Given the description of an element on the screen output the (x, y) to click on. 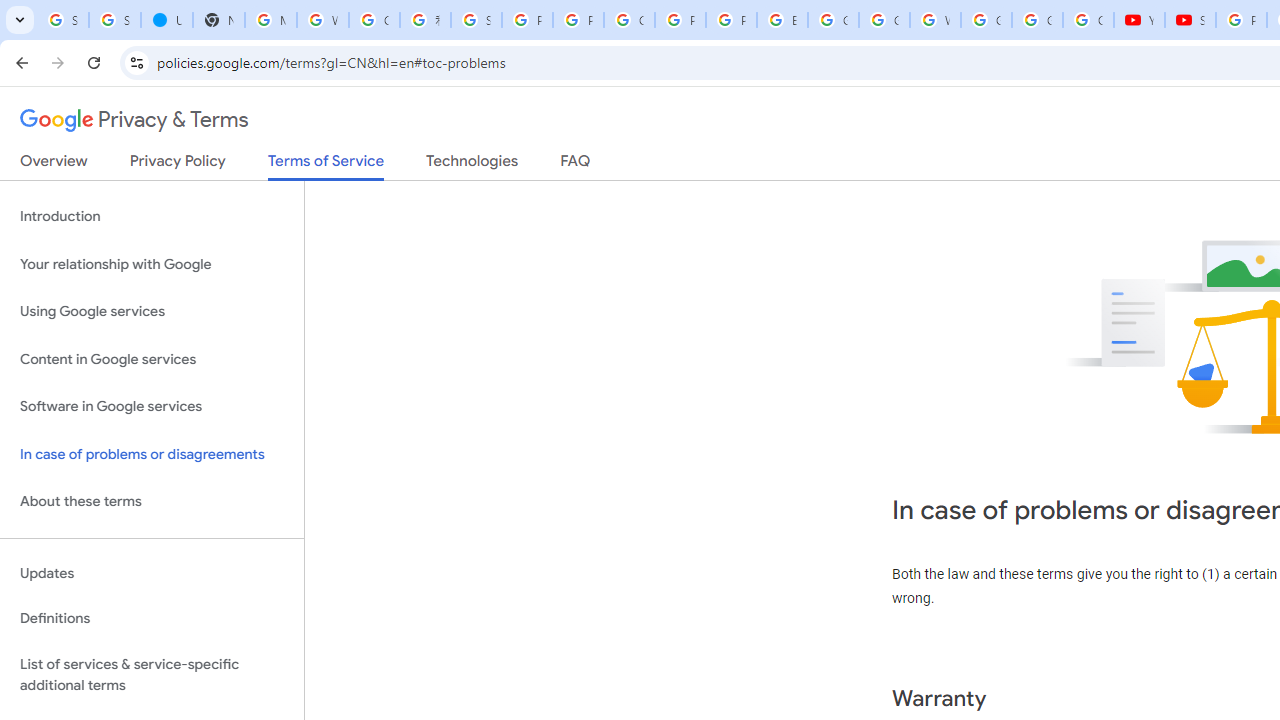
In case of problems or disagreements (152, 453)
List of services & service-specific additional terms (152, 674)
Your relationship with Google (152, 263)
Google Slides: Sign-in (832, 20)
Create your Google Account (374, 20)
Who is my administrator? - Google Account Help (323, 20)
